Given the description of an element on the screen output the (x, y) to click on. 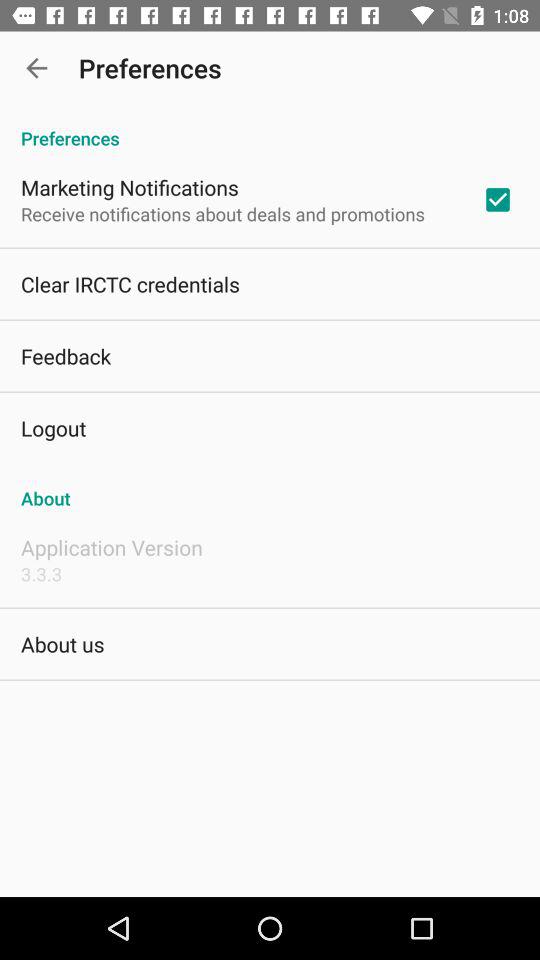
select the item below the about icon (111, 547)
